Given the description of an element on the screen output the (x, y) to click on. 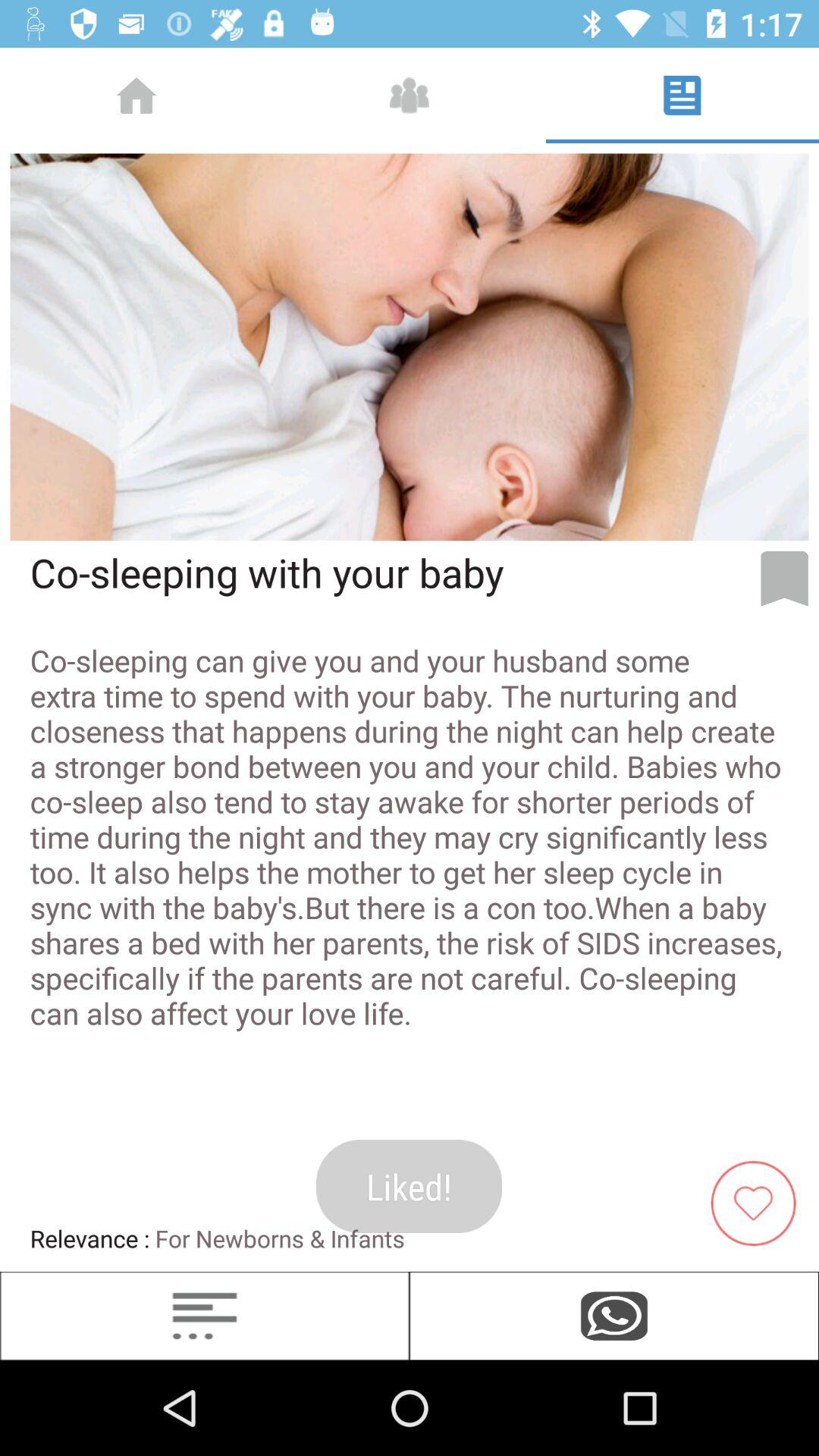
bookmark this (784, 578)
